Given the description of an element on the screen output the (x, y) to click on. 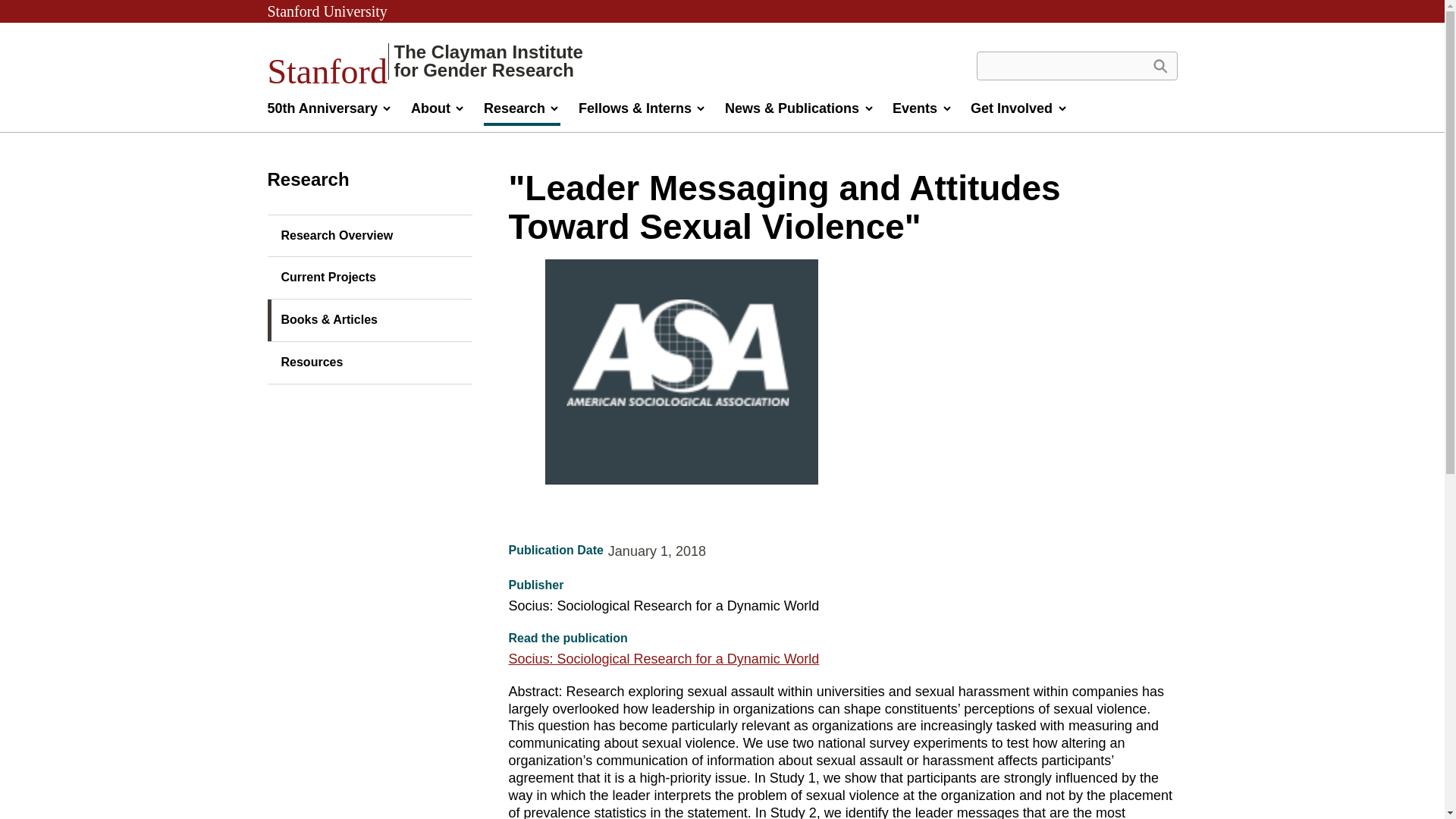
Search (1159, 65)
Toggle 50th Anniversary (424, 61)
50th Anniversary (387, 109)
About (328, 112)
Stanford University (437, 112)
Search (326, 11)
Research (1159, 65)
